Given the description of an element on the screen output the (x, y) to click on. 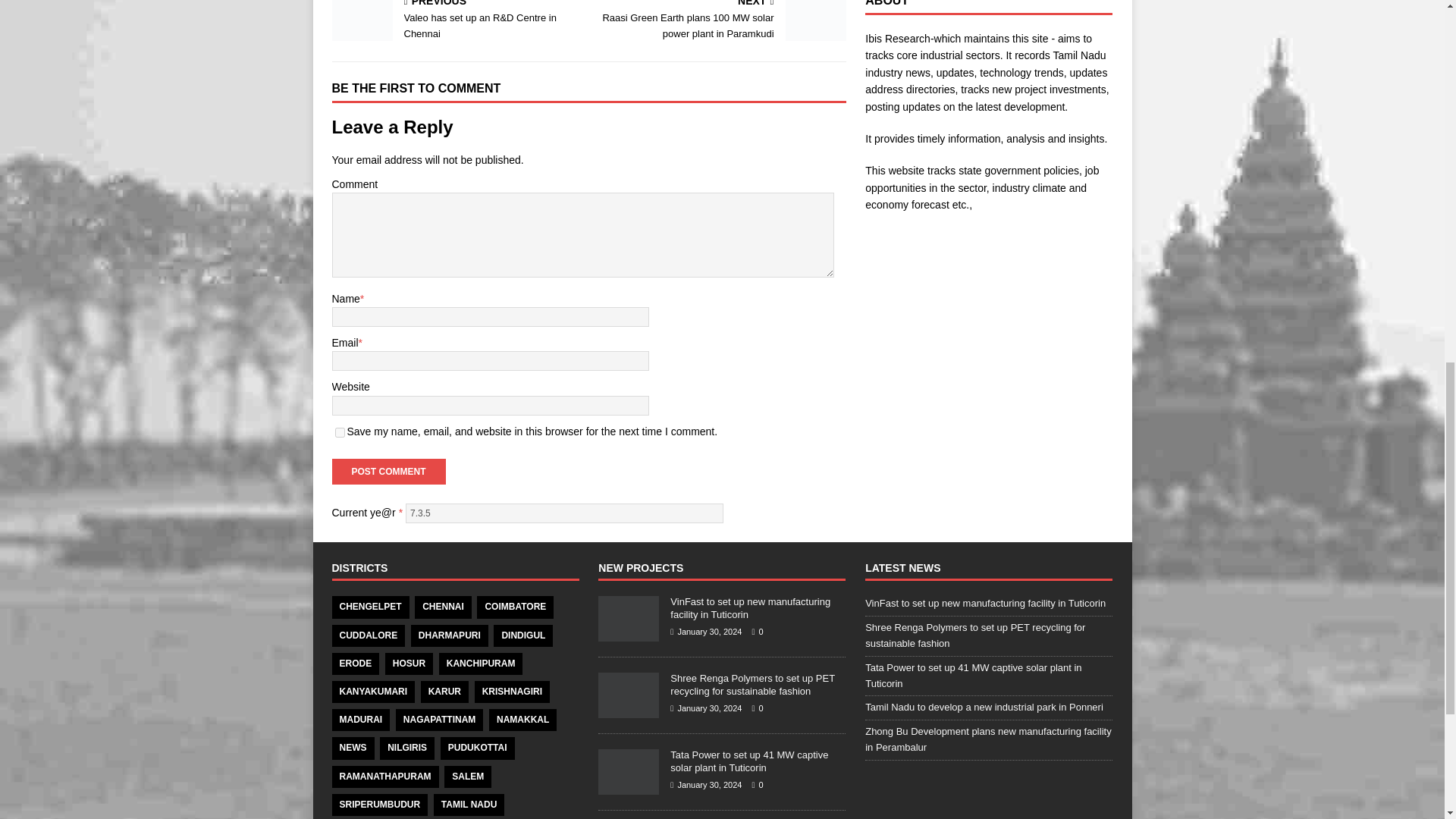
Post Comment (388, 471)
VinFast to set up new manufacturing facility in Tuticorin (628, 633)
Post Comment (388, 471)
Tata Power to set up 41 MW captive solar plant in Tuticorin (748, 761)
VinFast to set up new manufacturing facility in Tuticorin (749, 607)
7.3.5 (564, 513)
Tata Power to set up 41 MW captive solar plant in Tuticorin (628, 786)
yes (339, 432)
